Given the description of an element on the screen output the (x, y) to click on. 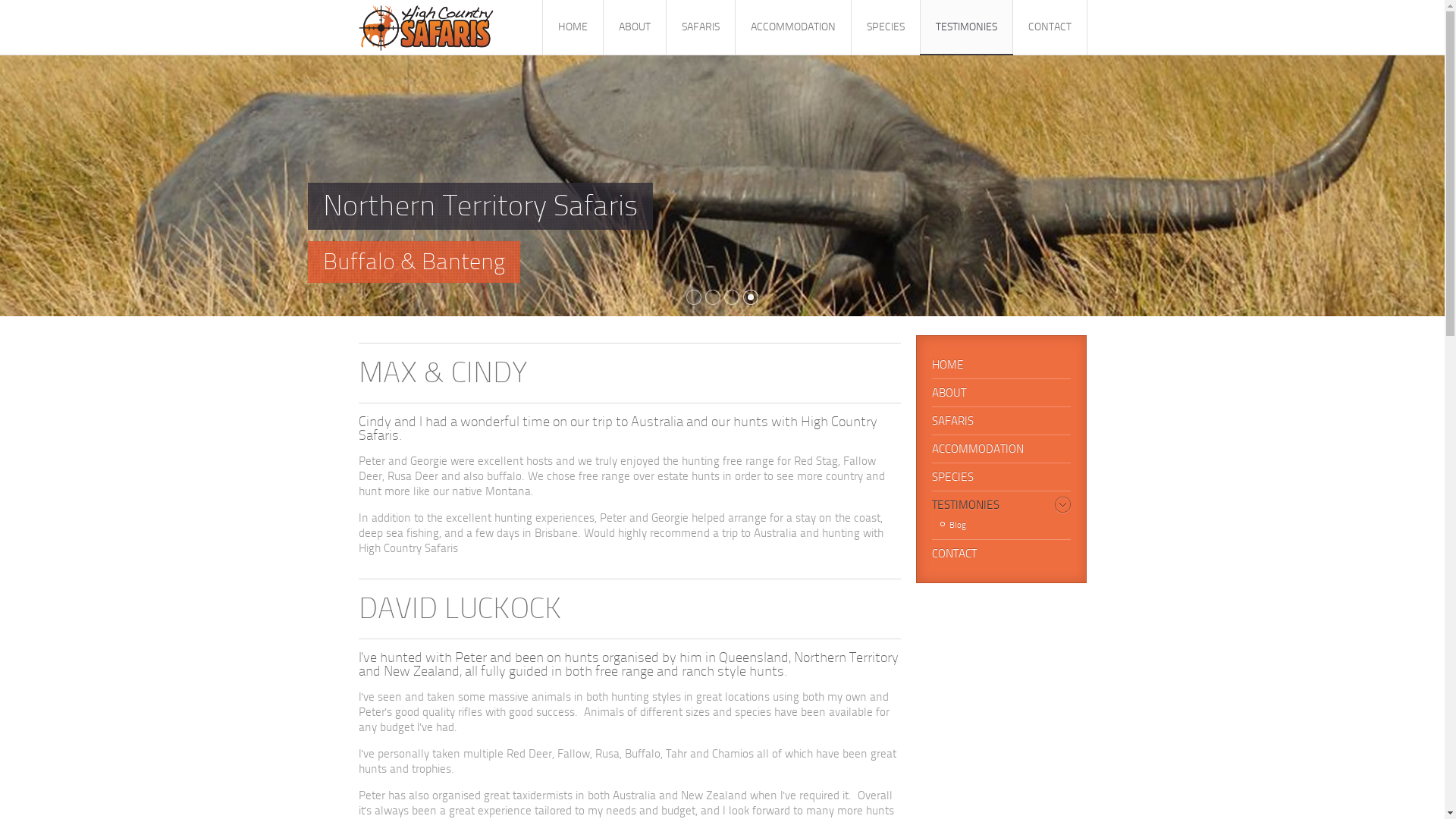
ABOUT Element type: text (1000, 392)
DAVID LUCKOCK Element type: text (459, 608)
HOME Element type: text (1000, 364)
SPECIES Element type: text (1000, 476)
CONTACT Element type: text (1000, 553)
SPECIES Element type: text (885, 27)
SAFARIS Element type: text (700, 27)
Blog Element type: text (1002, 524)
ACCOMMODATION Element type: text (1000, 448)
SAFARIS Element type: text (1000, 420)
ABOUT Element type: text (633, 27)
TESTIMONIES Element type: text (965, 27)
HOME Element type: text (571, 27)
CONTACT Element type: text (1048, 27)
ACCOMMODATION Element type: text (792, 27)
TESTIMONIES Element type: text (1000, 504)
MAX & CINDY Element type: text (442, 372)
